Given the description of an element on the screen output the (x, y) to click on. 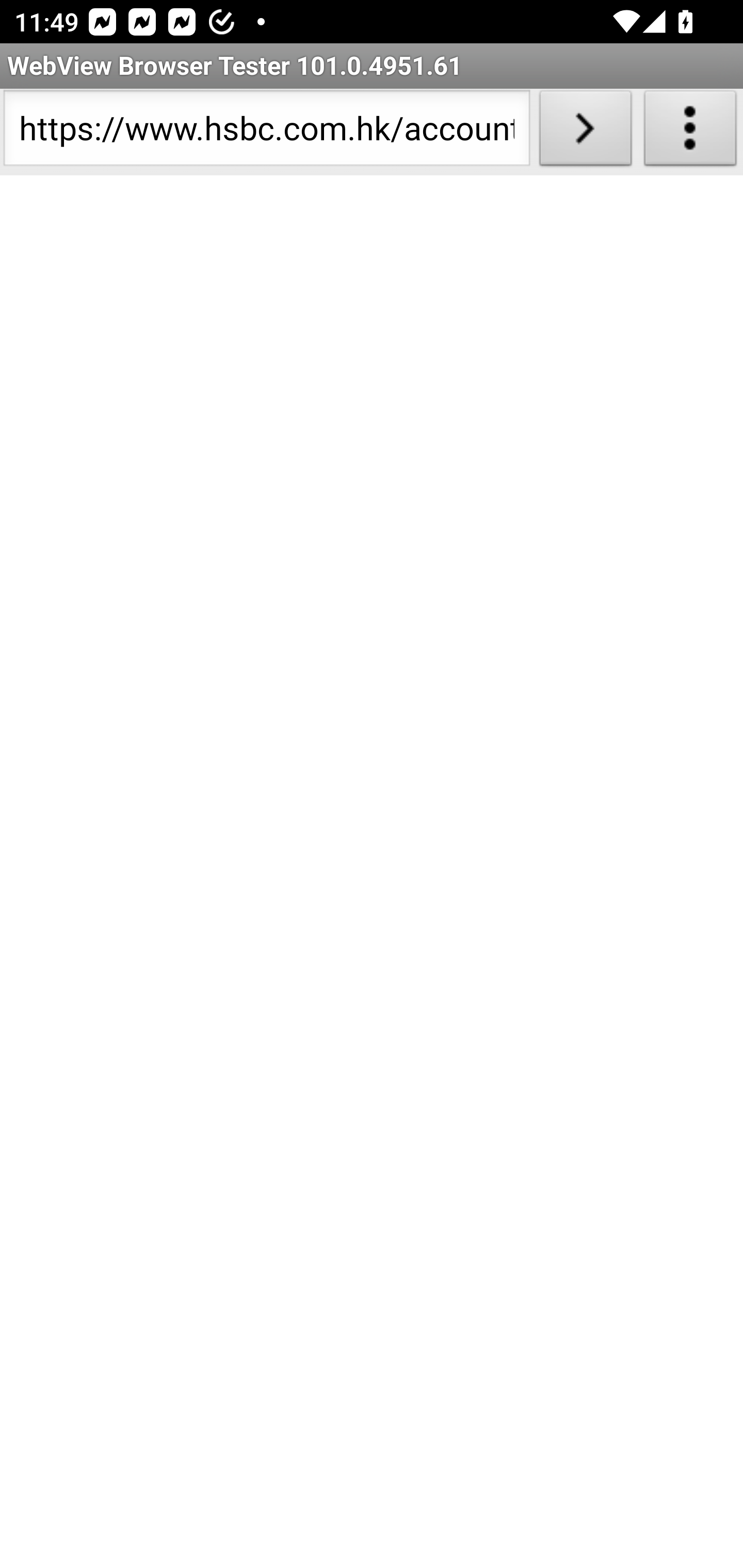
Load URL (585, 132)
About WebView (690, 132)
